Given the description of an element on the screen output the (x, y) to click on. 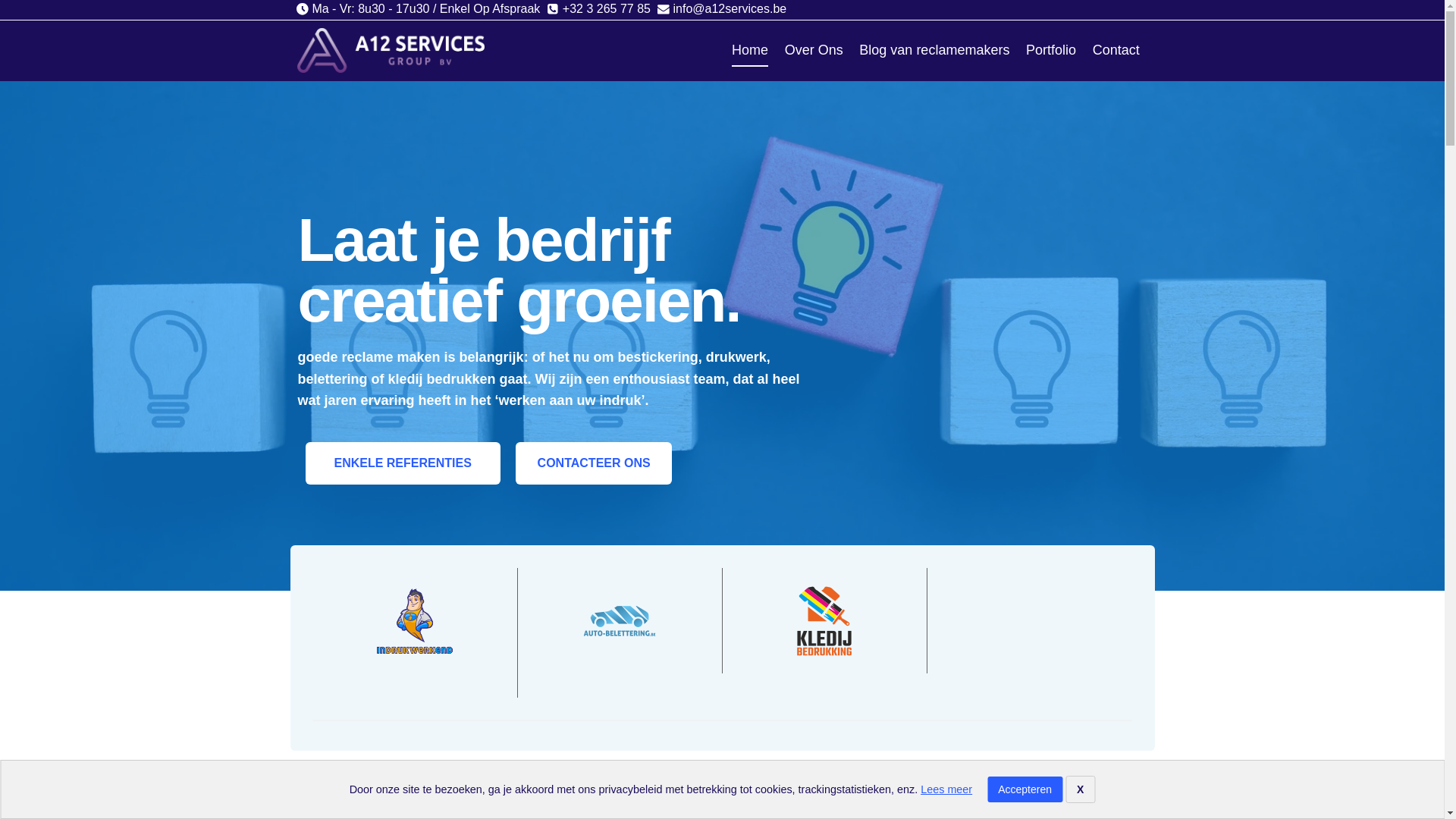
Home Element type: text (749, 50)
Beheer cookies Element type: text (62, 790)
X Element type: text (1080, 789)
ENKELE REFERENTIES Element type: text (401, 463)
Lees meer Element type: text (946, 789)
Contact Element type: text (1116, 50)
CONTACTEER ONS Element type: text (593, 463)
Portfolio Element type: text (1050, 50)
Blog van reclamemakers Element type: text (934, 50)
+32 3 265 77 85 Element type: text (598, 9)
Accepteren Element type: text (1024, 789)
info@a12services.be Element type: text (721, 9)
Over Ons Element type: text (813, 50)
